Given the description of an element on the screen output the (x, y) to click on. 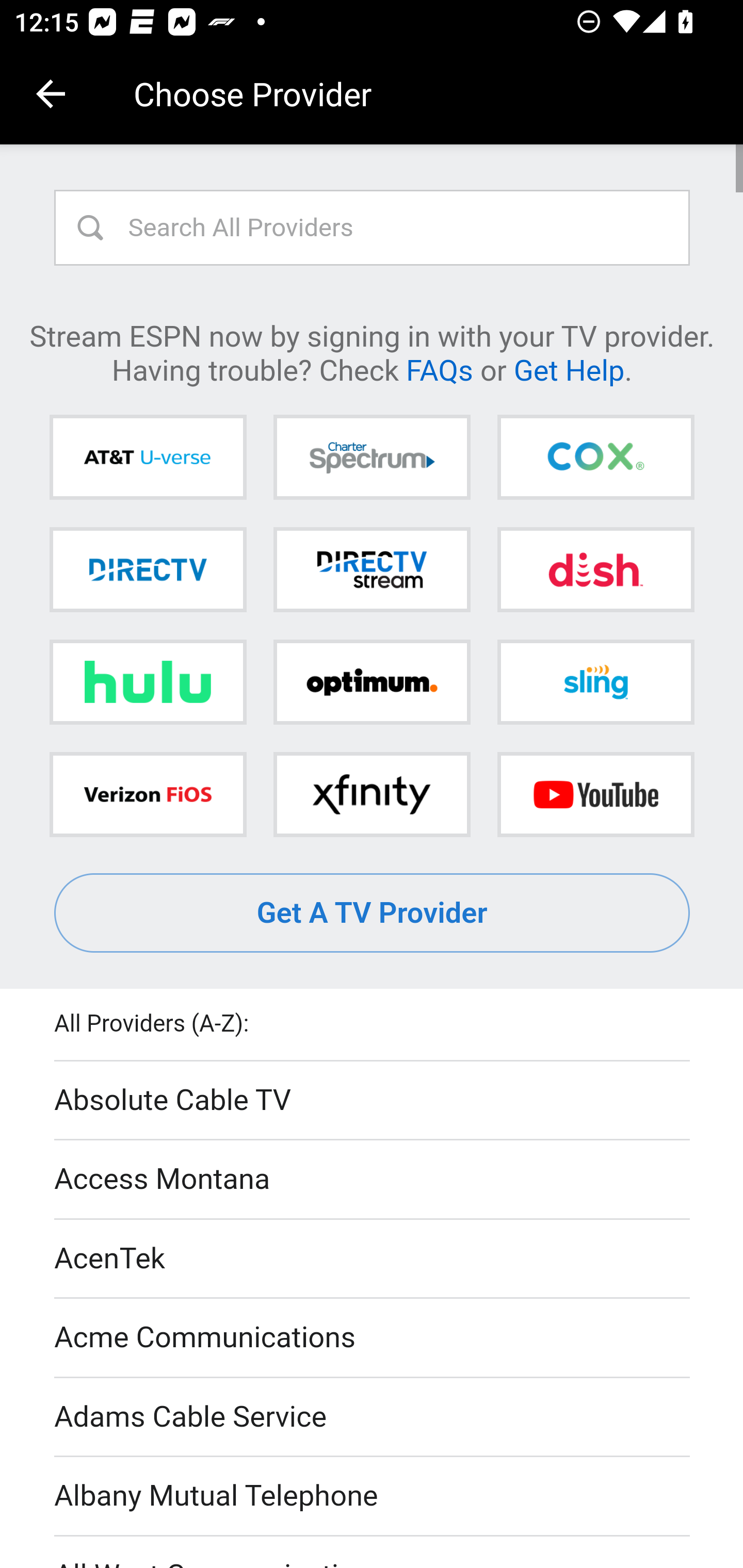
Navigate up (50, 93)
FAQs (438, 369)
Get Help (569, 369)
AT&T U-verse (147, 457)
Charter Spectrum (371, 457)
Cox (595, 457)
DIRECTV (147, 568)
DIRECTV STREAM (371, 568)
DISH (595, 568)
Hulu (147, 681)
Optimum (371, 681)
Sling TV (595, 681)
Verizon FiOS (147, 793)
Xfinity (371, 793)
YouTube TV (595, 793)
Get A TV Provider (372, 912)
Absolute Cable TV (372, 1100)
Access Montana (372, 1178)
AcenTek (372, 1258)
Acme Communications (372, 1338)
Adams Cable Service (372, 1417)
Albany Mutual Telephone (372, 1497)
